Given the description of an element on the screen output the (x, y) to click on. 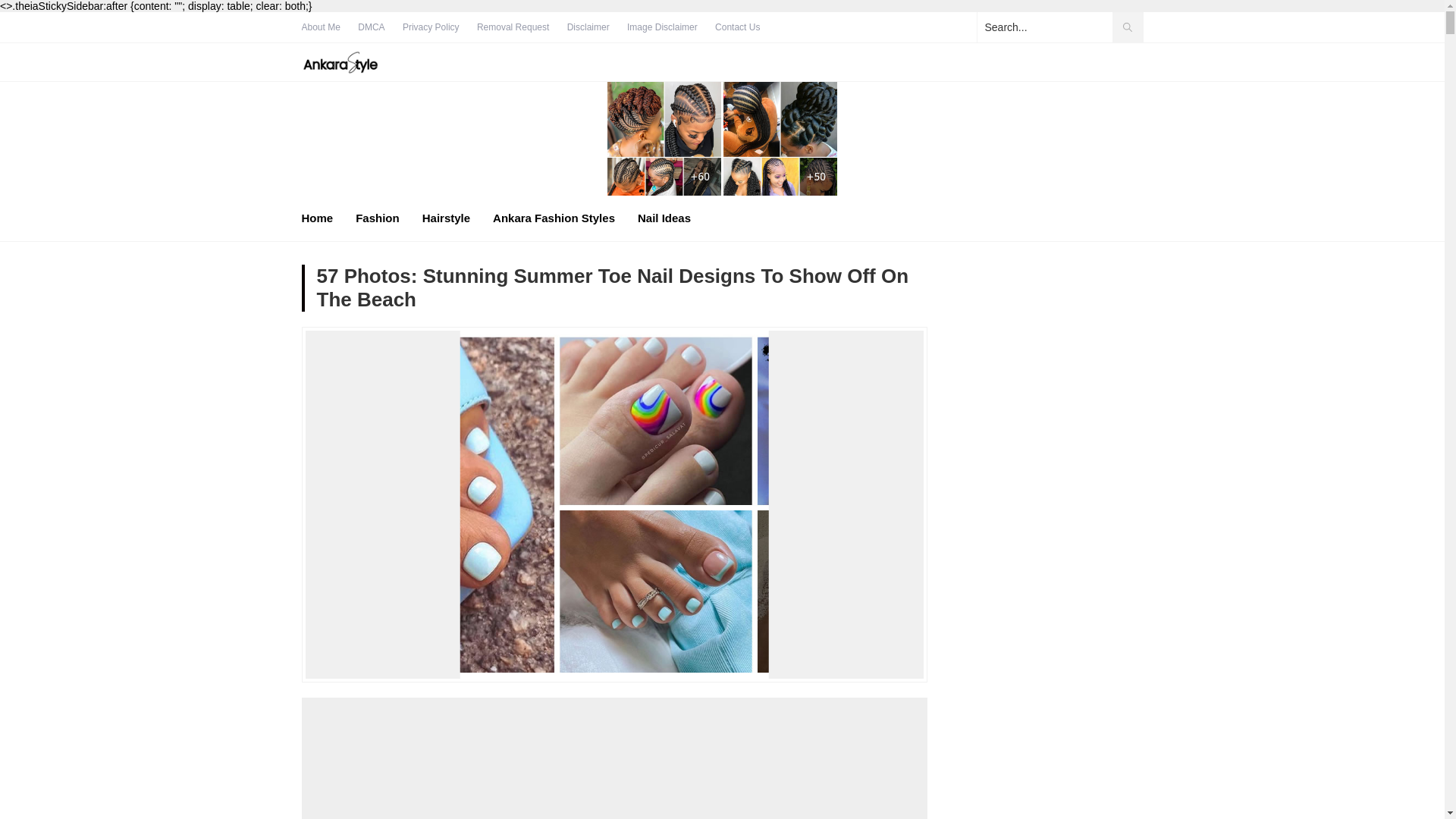
Ankara Fashion Styles (553, 217)
Fashion (376, 217)
Contact Us (737, 27)
Privacy Policy (431, 27)
Removal Request (512, 27)
Hairstyle (446, 217)
Advertisement (613, 773)
Nail Ideas (663, 217)
About Me (320, 27)
DMCA (371, 27)
Disclaimer (588, 27)
Image Disclaimer (662, 27)
Search... (1058, 27)
Fashion ideas (339, 61)
